Given the description of an element on the screen output the (x, y) to click on. 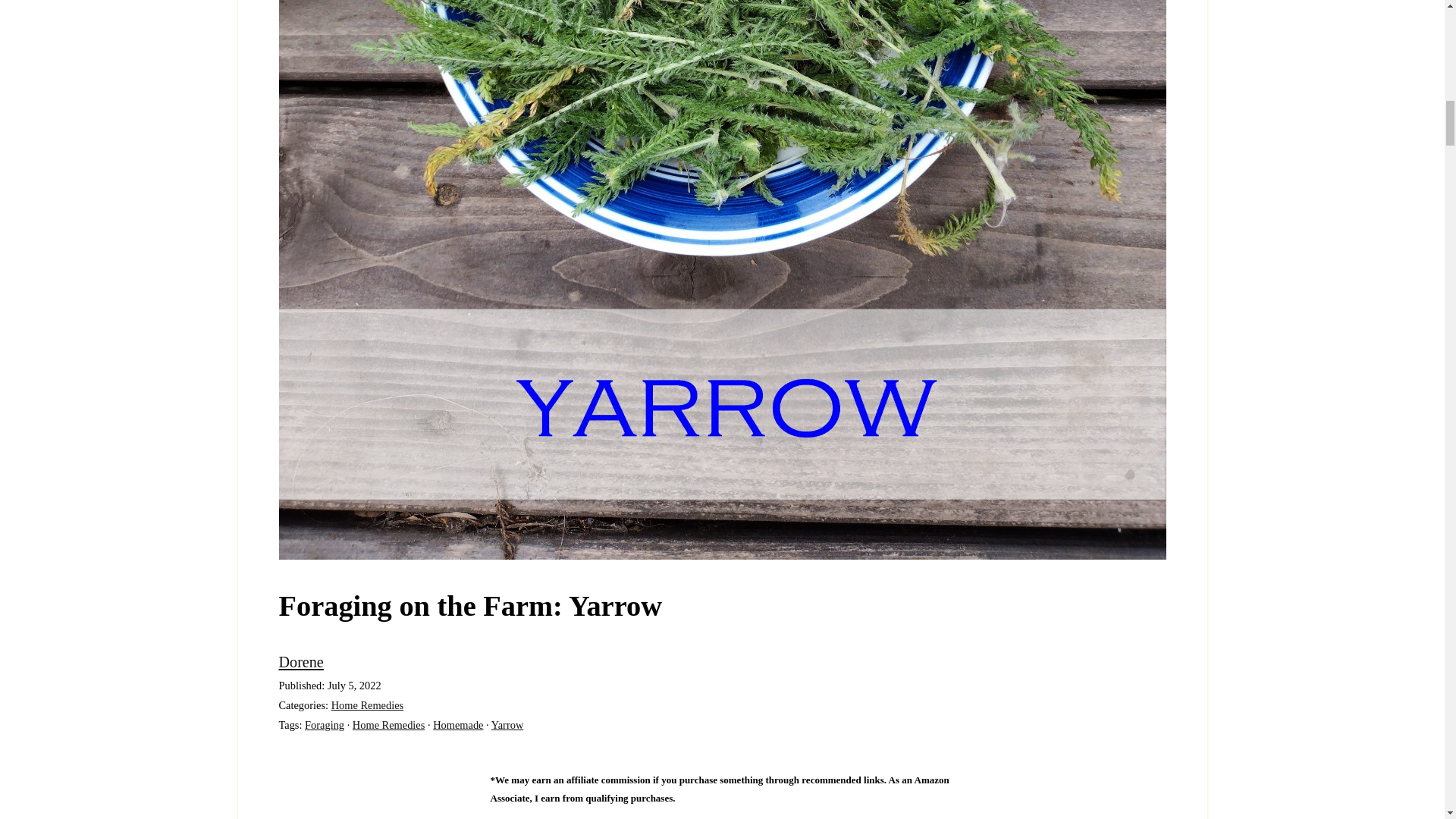
Home Remedies (388, 725)
Homemade (457, 725)
Dorene (301, 661)
Home Remedies (367, 705)
Foraging (323, 725)
Yarrow (508, 725)
